Given the description of an element on the screen output the (x, y) to click on. 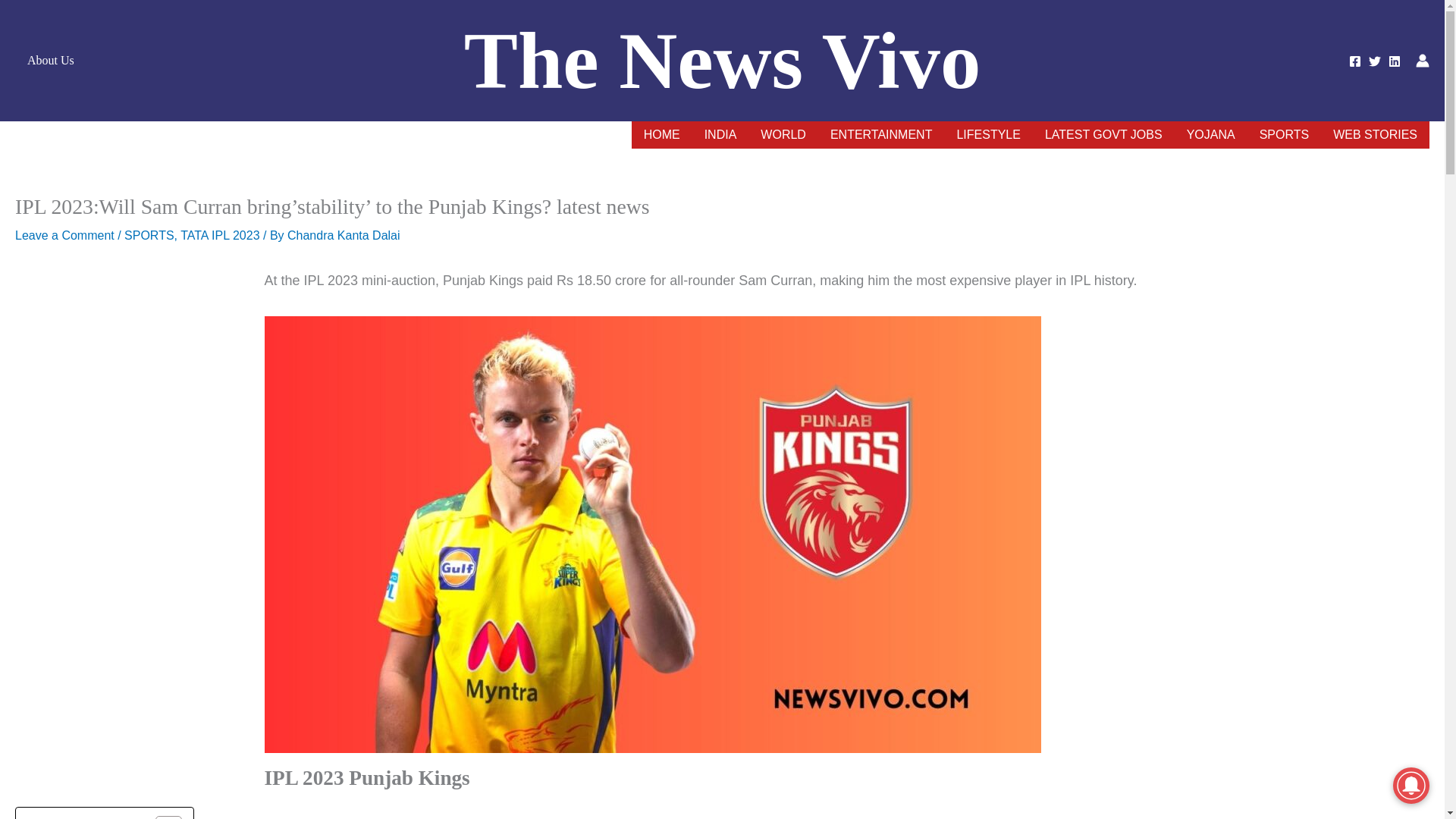
LATEST GOVT JOBS (1103, 134)
View all posts by Chandra Kanta Dalai (343, 235)
WEB STORIES (1374, 134)
ENTERTAINMENT (881, 134)
SPORTS (1284, 134)
SPORTS (148, 235)
HOME (662, 134)
About Us (49, 60)
YOJANA (1210, 134)
WORLD (783, 134)
